Given the description of an element on the screen output the (x, y) to click on. 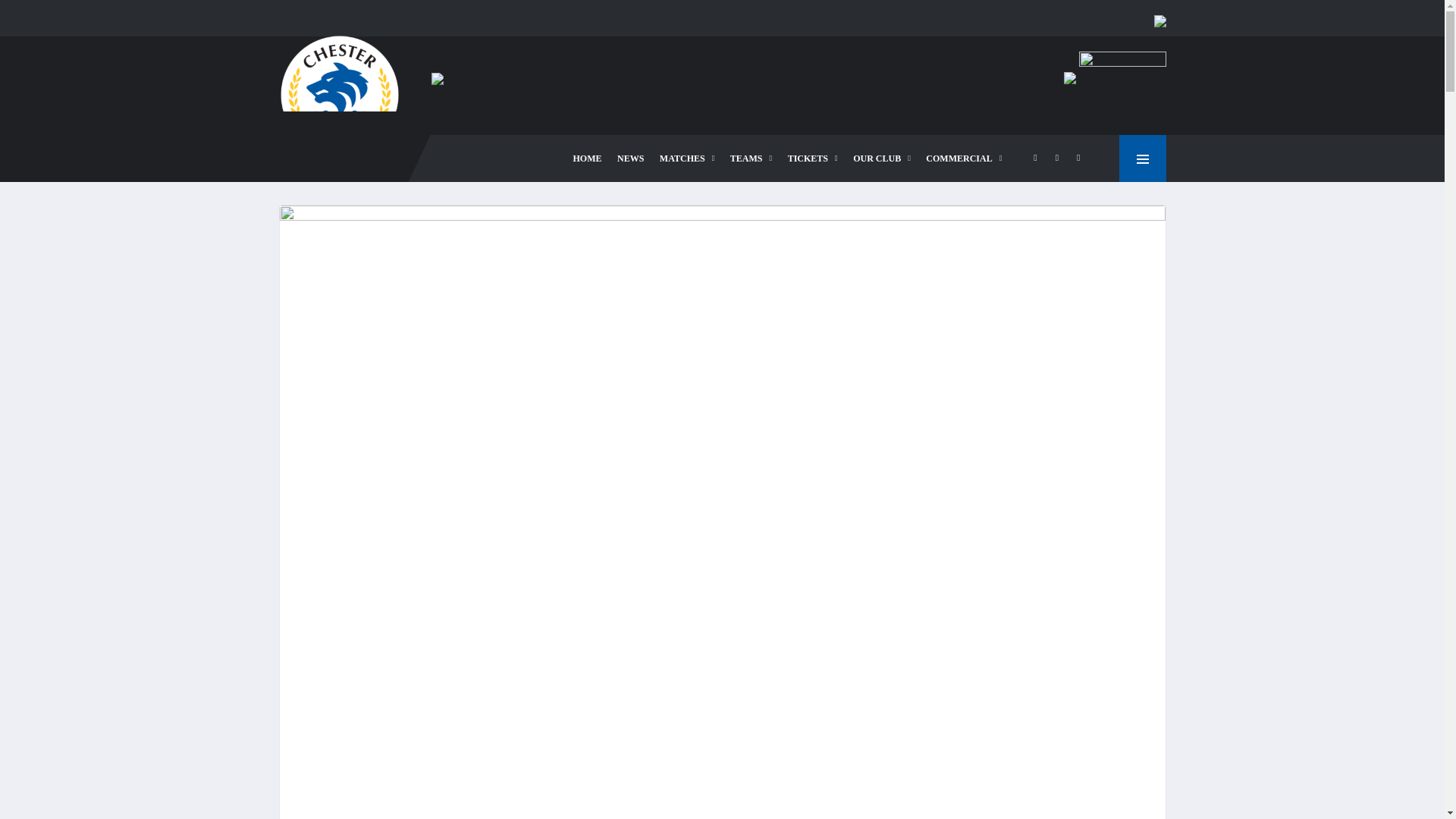
NEWS (630, 158)
TICKETS (812, 158)
TEAMS (750, 158)
MATCHES (686, 158)
HOME (587, 158)
COMMERCIAL (963, 158)
OUR CLUB (882, 158)
